Given the description of an element on the screen output the (x, y) to click on. 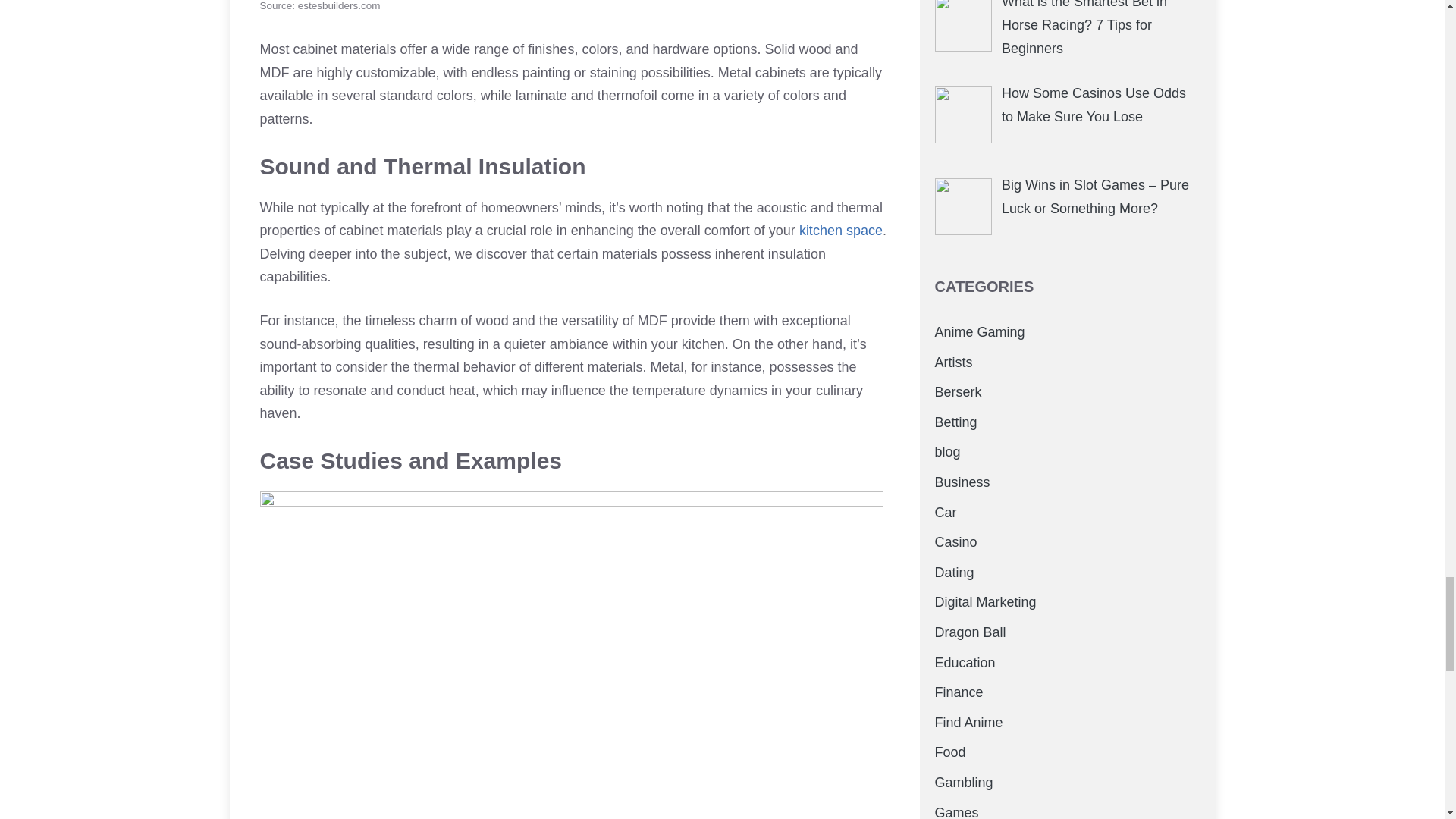
kitchen space (840, 230)
